Given the description of an element on the screen output the (x, y) to click on. 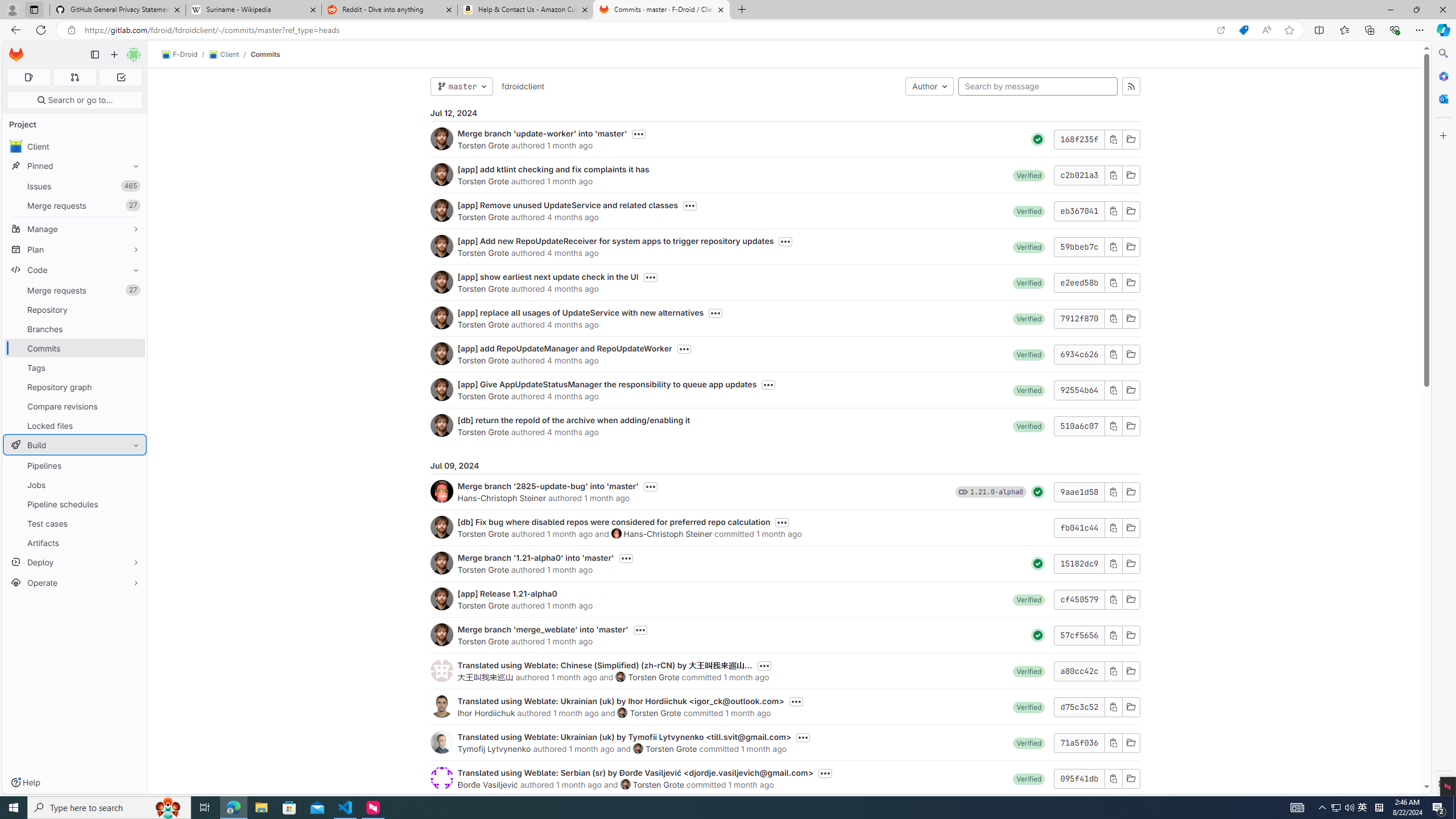
avatar Client (74, 145)
Pin Tags (132, 367)
Repository graph (74, 386)
Artifacts (74, 542)
[app] add RepoUpdateManager and RepoUpdateWorker (564, 347)
Repository graph (74, 386)
Pin Repository graph (132, 386)
